Given the description of an element on the screen output the (x, y) to click on. 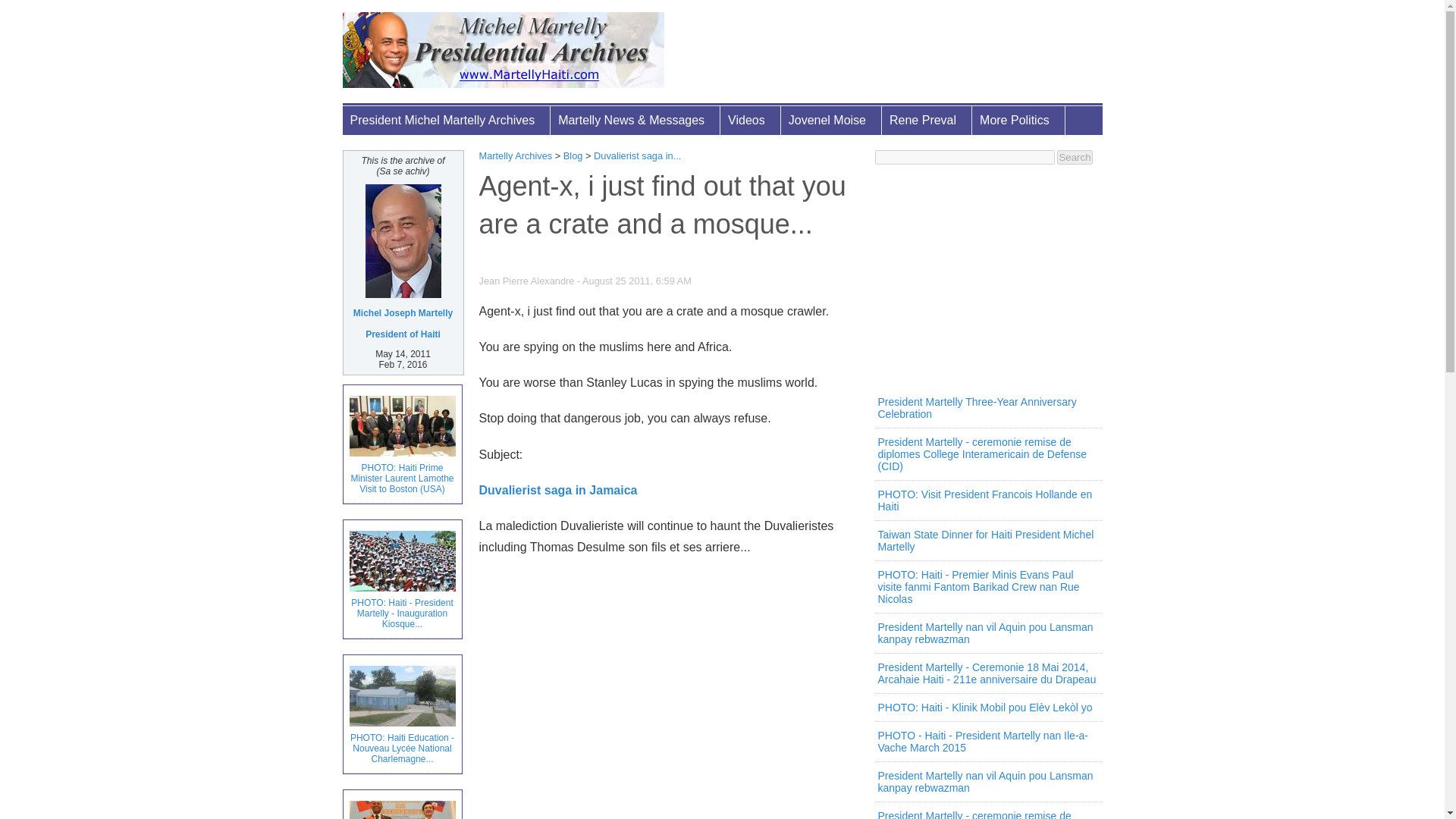
Search (1074, 156)
President Michel Martelly Archives (446, 120)
Taiwan State Dinner for Haiti President Michel Martelly (401, 804)
Advertisement (669, 701)
Jovenel Moise (831, 120)
Rene Preval (927, 120)
PHOTO: Haiti - President Martelly - Inauguration Kiosque... (401, 579)
